Given the description of an element on the screen output the (x, y) to click on. 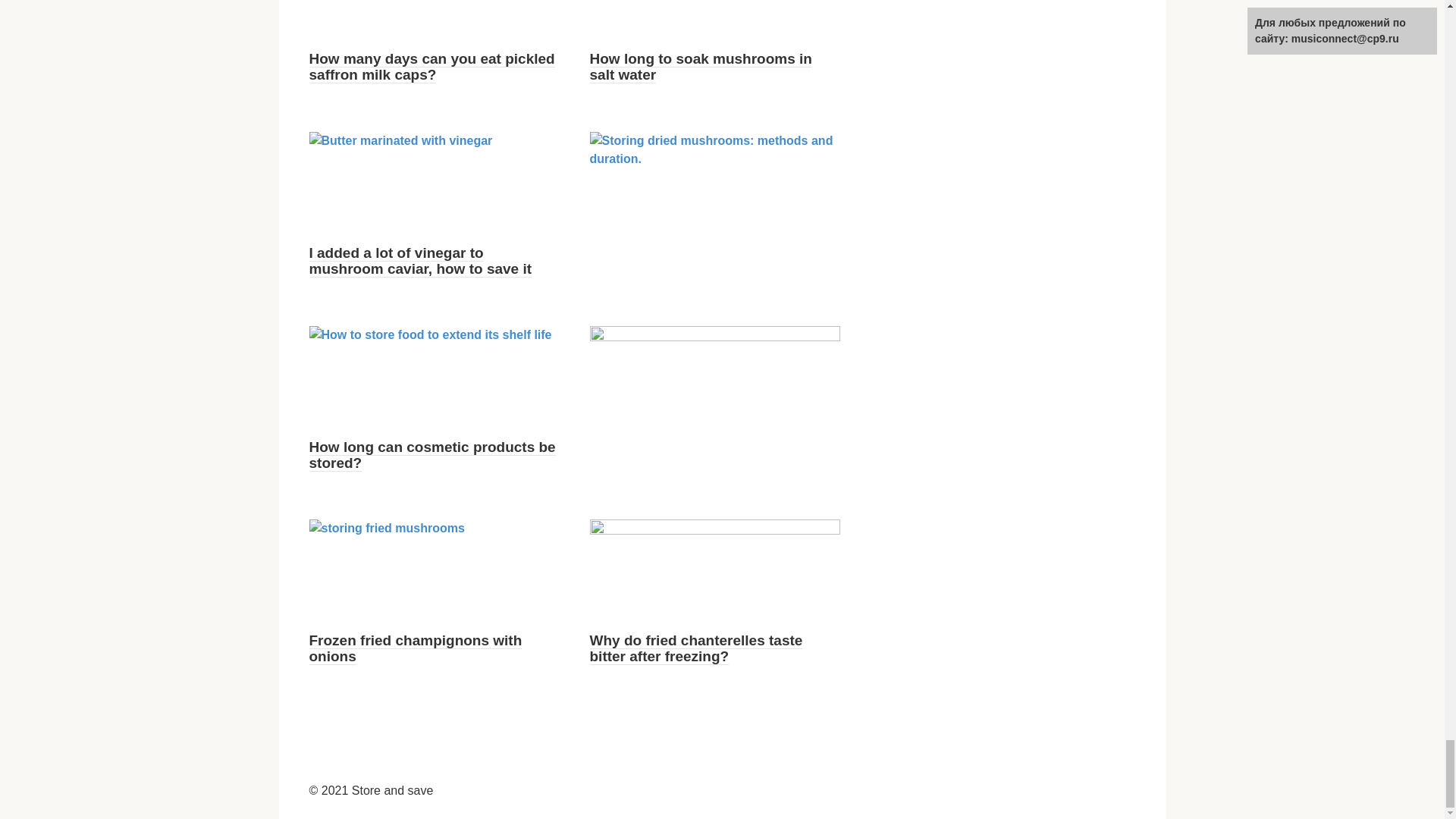
How long to soak mushrooms in salt water (700, 66)
Frozen fried champignons with onions (415, 648)
Why do fried chanterelles taste bitter after freezing? (696, 648)
How many days can you eat pickled saffron milk caps? (431, 66)
How long can cosmetic products be stored? (432, 454)
I added a lot of vinegar to mushroom caviar, how to save it (420, 260)
